Given the description of an element on the screen output the (x, y) to click on. 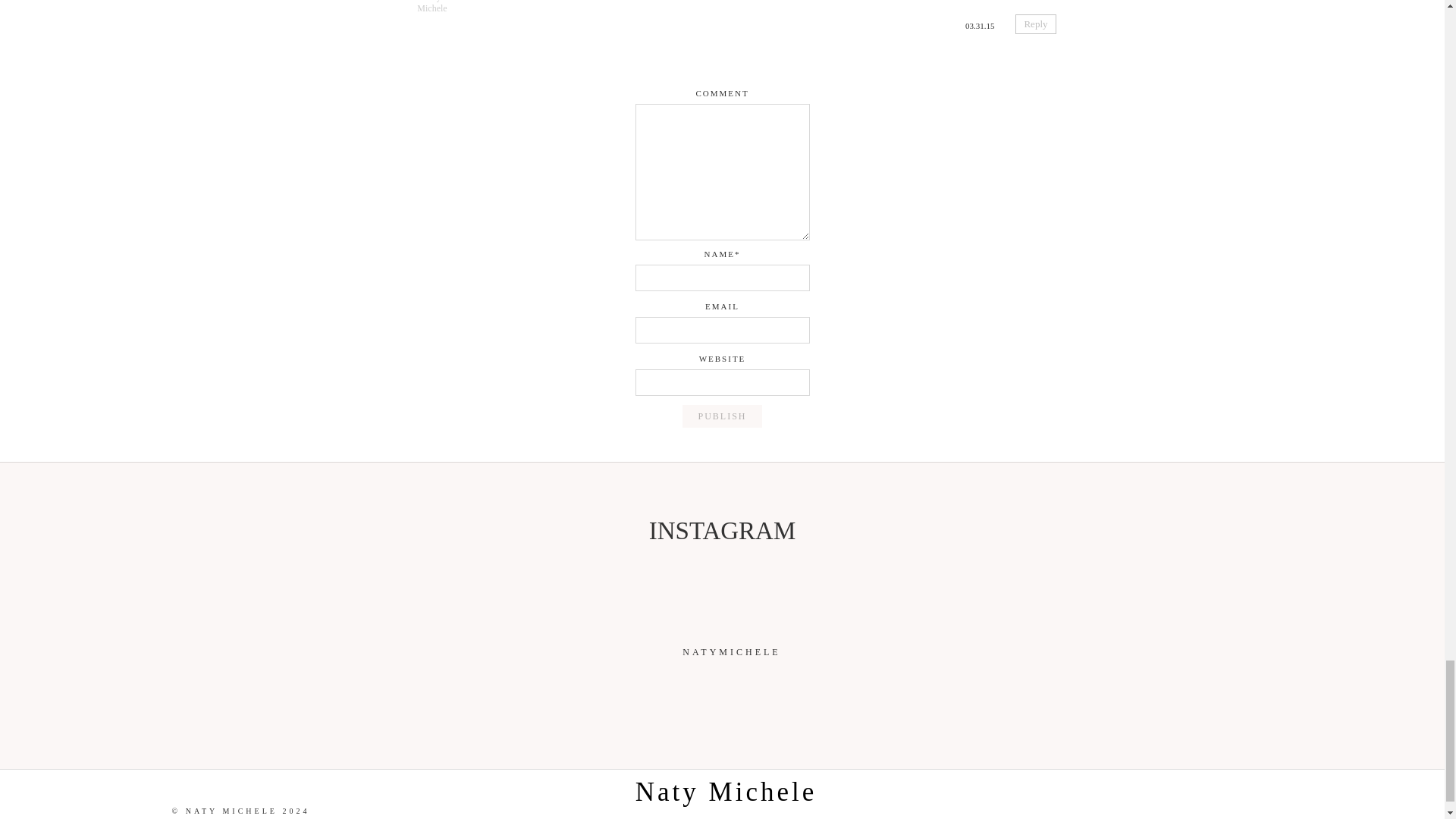
Publish (721, 415)
